Given the description of an element on the screen output the (x, y) to click on. 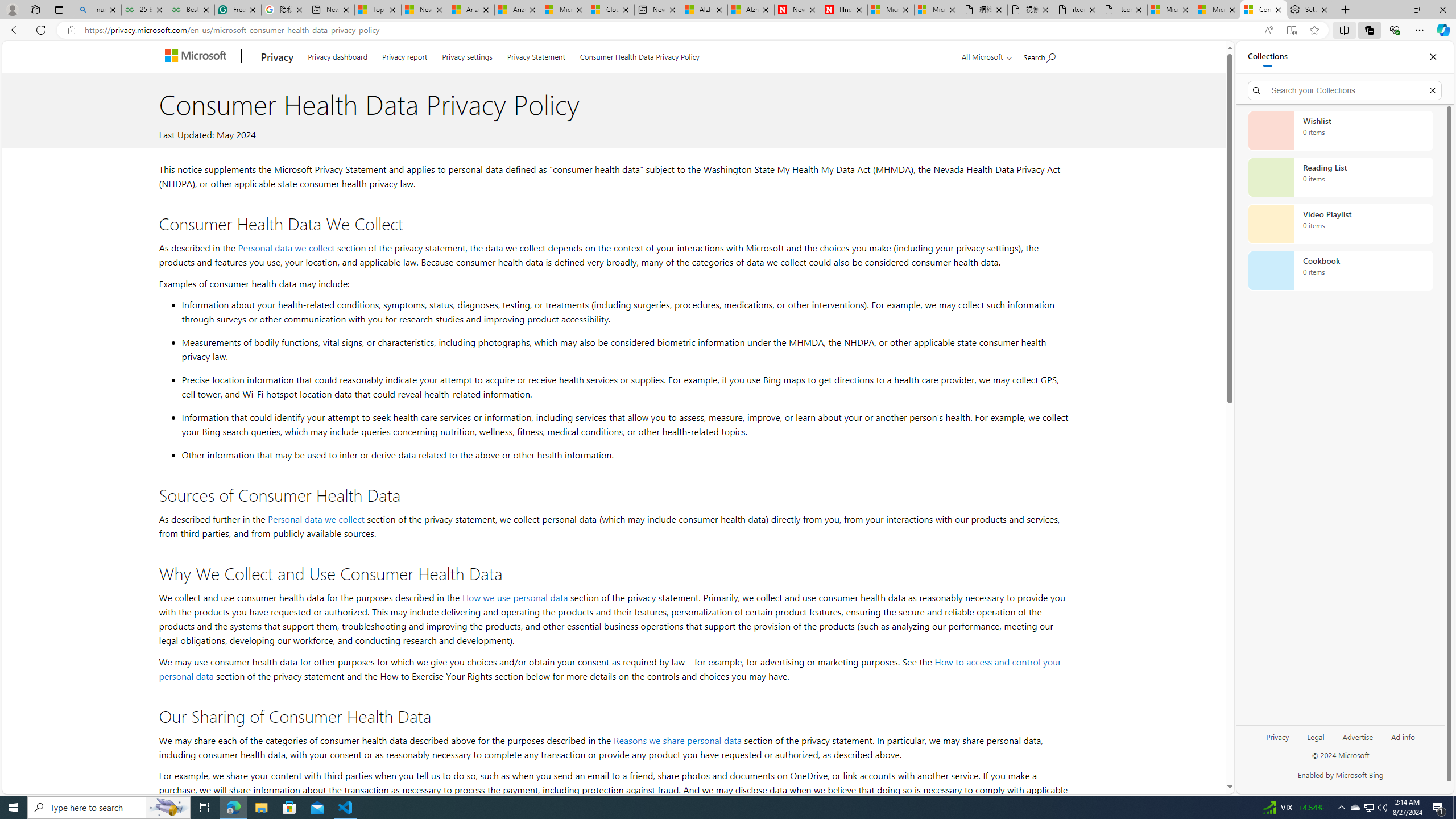
Privacy Statement (535, 54)
Microsoft (197, 56)
Microsoft Services Agreement (563, 9)
Privacy Statement (536, 54)
Privacy (1278, 736)
Privacy report (404, 54)
Privacy dashboard (337, 54)
Privacy (1277, 741)
